Given the description of an element on the screen output the (x, y) to click on. 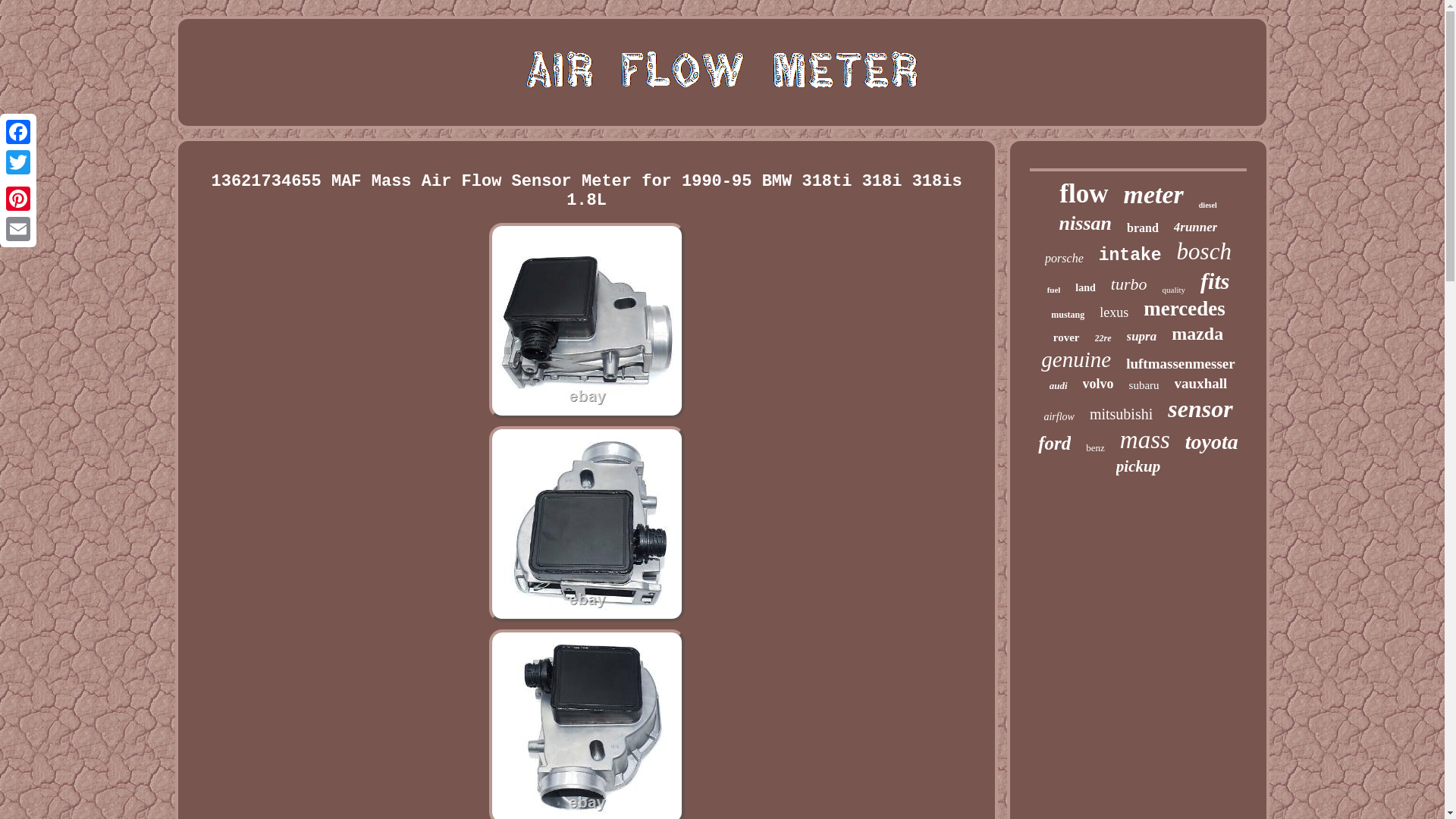
meter (1153, 194)
mustang (1067, 315)
intake (1130, 255)
mazda (1197, 333)
rover (1066, 337)
lexus (1113, 312)
Email (17, 228)
turbo (1128, 284)
22re (1103, 337)
subaru (1143, 385)
volvo (1098, 383)
flow (1083, 194)
porsche (1064, 258)
bosch (1203, 251)
nissan (1085, 223)
